Given the description of an element on the screen output the (x, y) to click on. 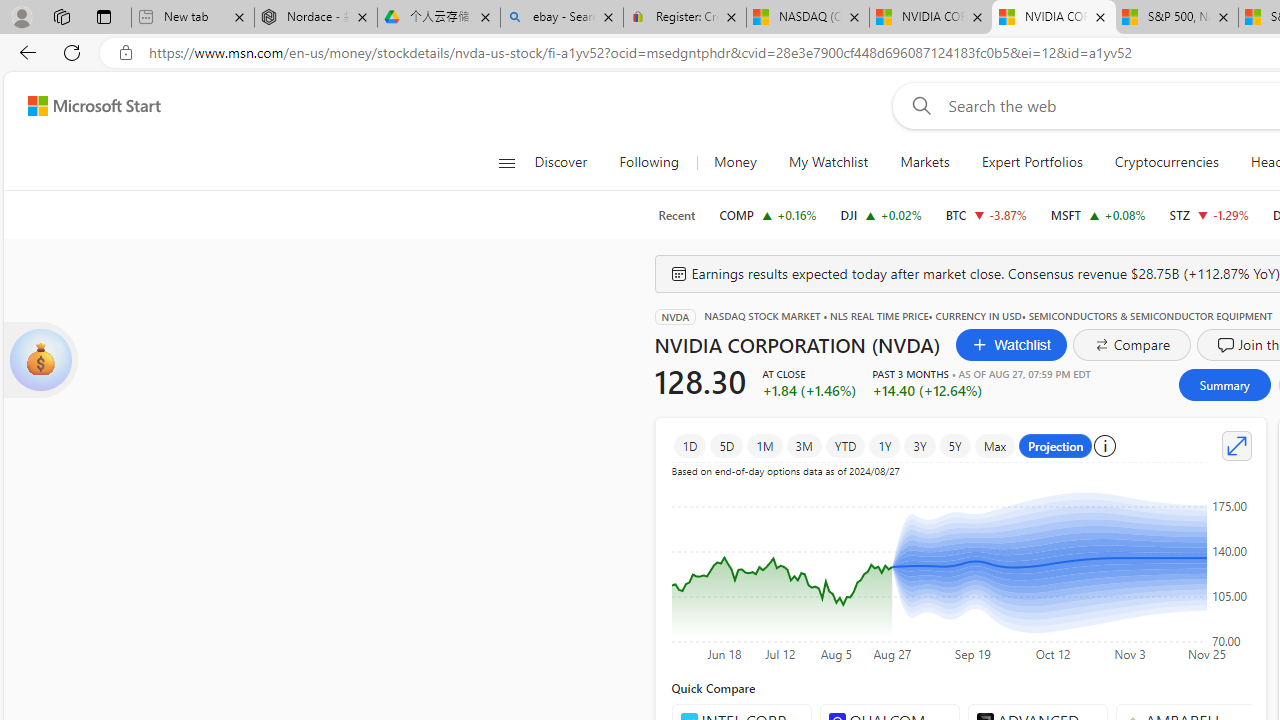
Class: recharts-surface (960, 566)
Markets (925, 162)
Compare (1131, 344)
BTC Bitcoin decrease 60,043.79 -2,323.69 -3.87% (986, 214)
1Y (885, 445)
Open navigation menu (506, 162)
Web search (917, 105)
Cryptocurrencies (1166, 162)
STZ CONSTELLATION BRANDS, INC. decrease 239.98 -3.13 -1.29% (1208, 214)
